Given the description of an element on the screen output the (x, y) to click on. 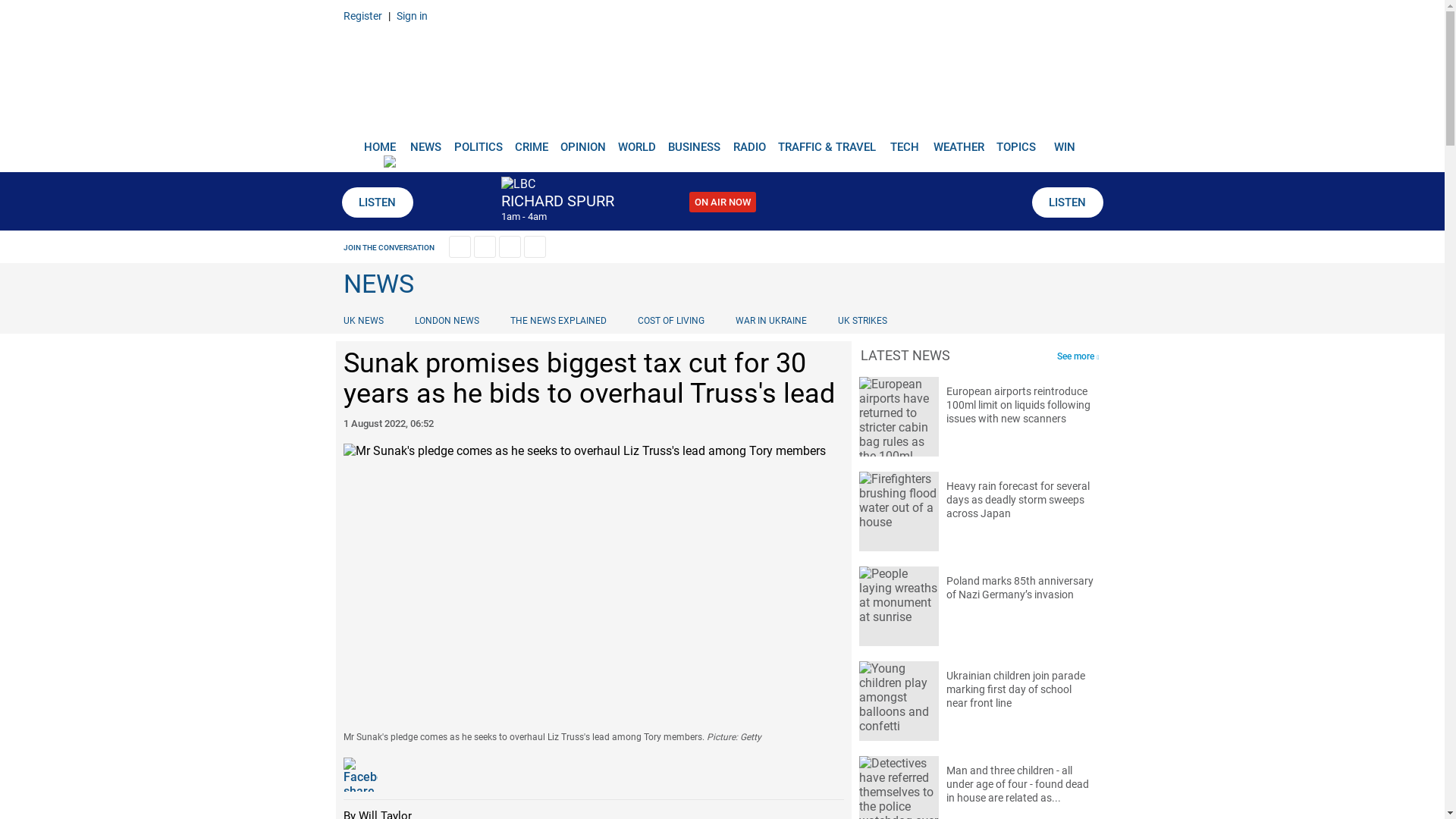
HOME (379, 140)
RADIO (748, 140)
Register (361, 15)
Sign in (411, 15)
LBC (722, 77)
CRIME (531, 140)
LONDON NEWS (446, 320)
WIN (1064, 140)
LISTEN (376, 202)
COST OF LIVING (670, 320)
